Given the description of an element on the screen output the (x, y) to click on. 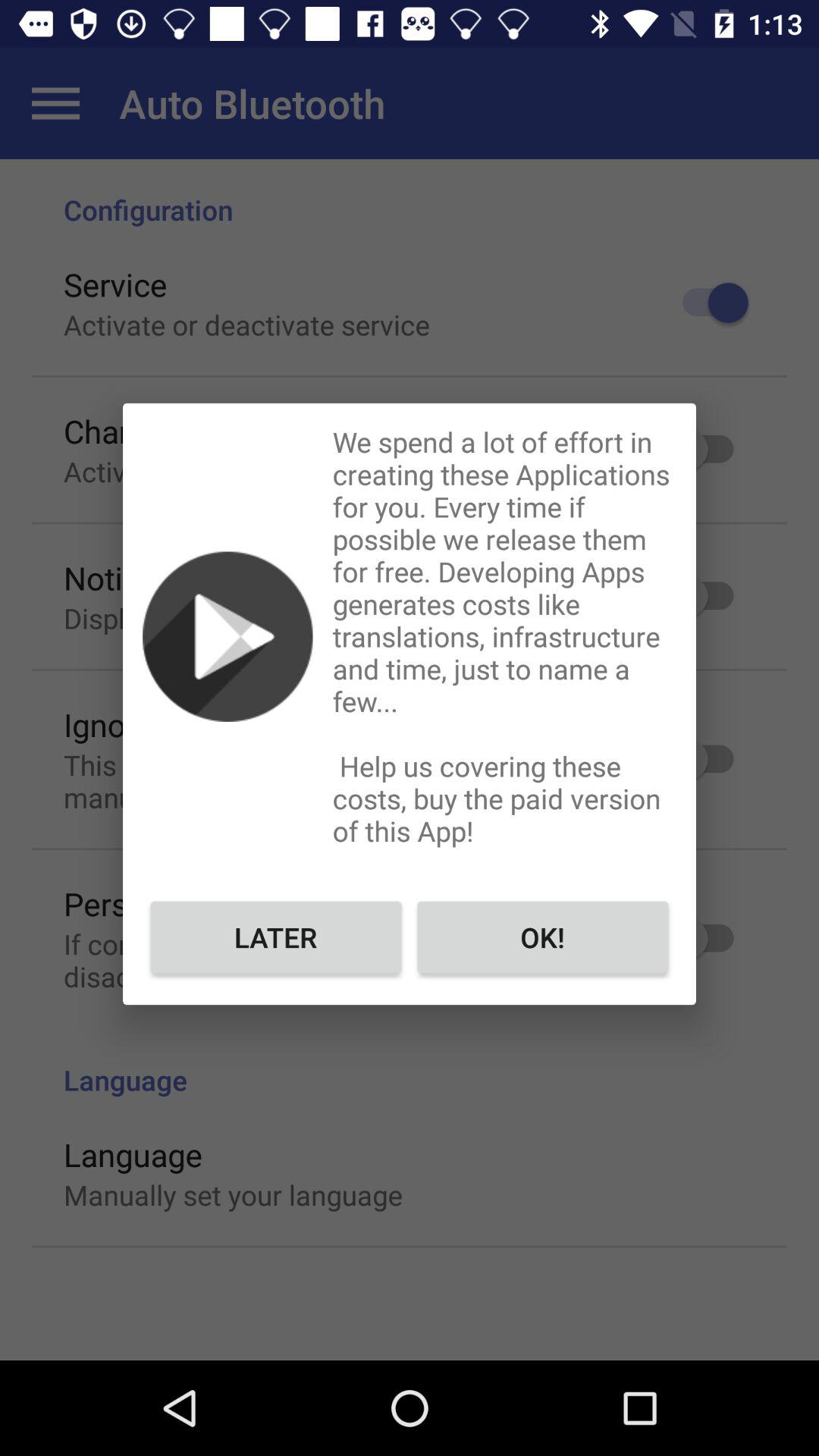
click button to the right of later item (542, 937)
